Given the description of an element on the screen output the (x, y) to click on. 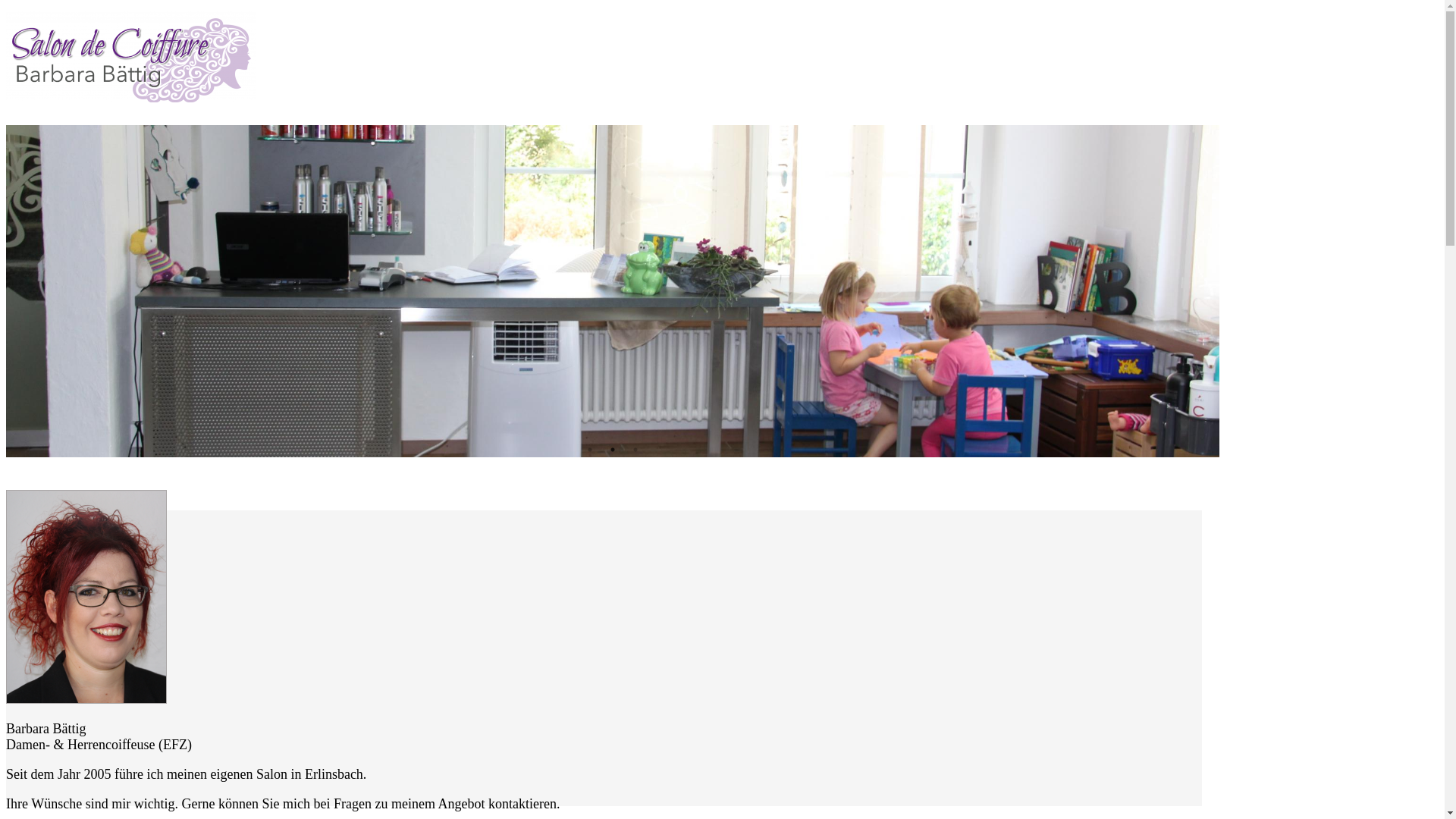
3 Element type: text (635, 449)
2 Element type: text (612, 449)
1 Element type: text (589, 449)
